Given the description of an element on the screen output the (x, y) to click on. 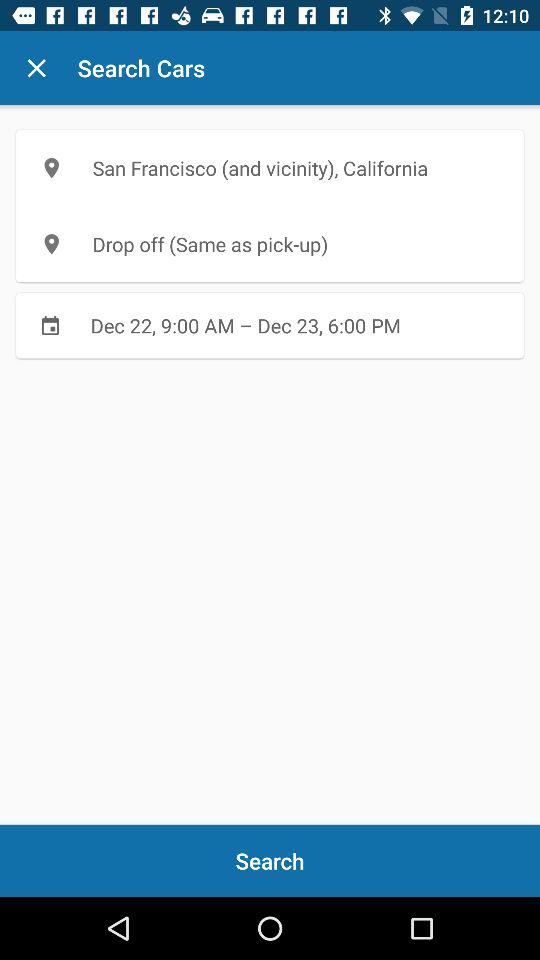
flip until san francisco and icon (269, 168)
